Given the description of an element on the screen output the (x, y) to click on. 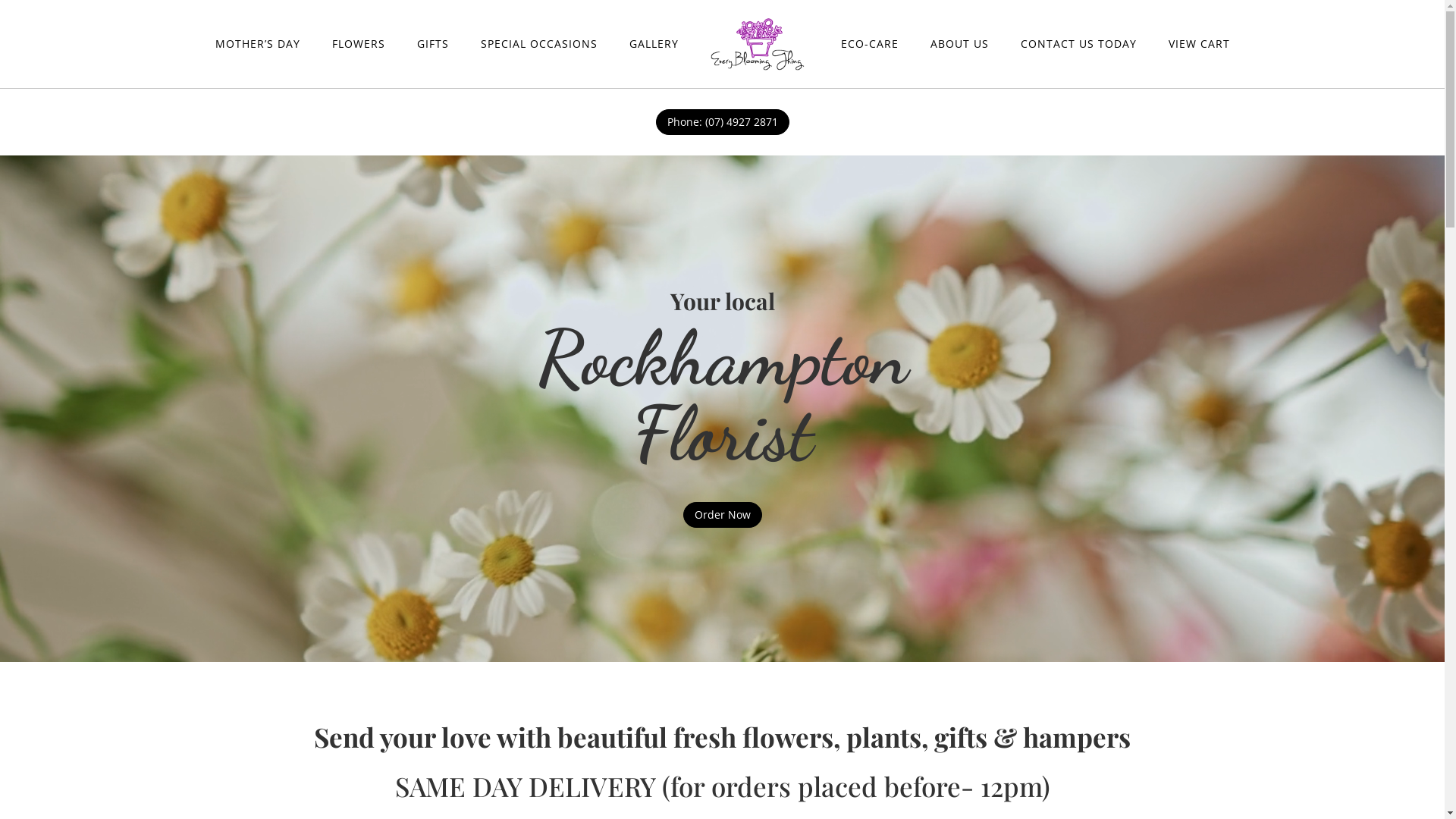
GALLERY Element type: text (653, 43)
Order Now Element type: text (721, 514)
SPECIAL OCCASIONS Element type: text (538, 43)
VIEW CART Element type: text (1198, 43)
Phone: (07) 4927 2871 Element type: text (721, 121)
CONTACT US TODAY Element type: text (1078, 43)
ABOUT US Element type: text (958, 43)
FLOWERS Element type: text (358, 43)
GIFTS Element type: text (432, 43)
ECO-CARE Element type: text (868, 43)
